Given the description of an element on the screen output the (x, y) to click on. 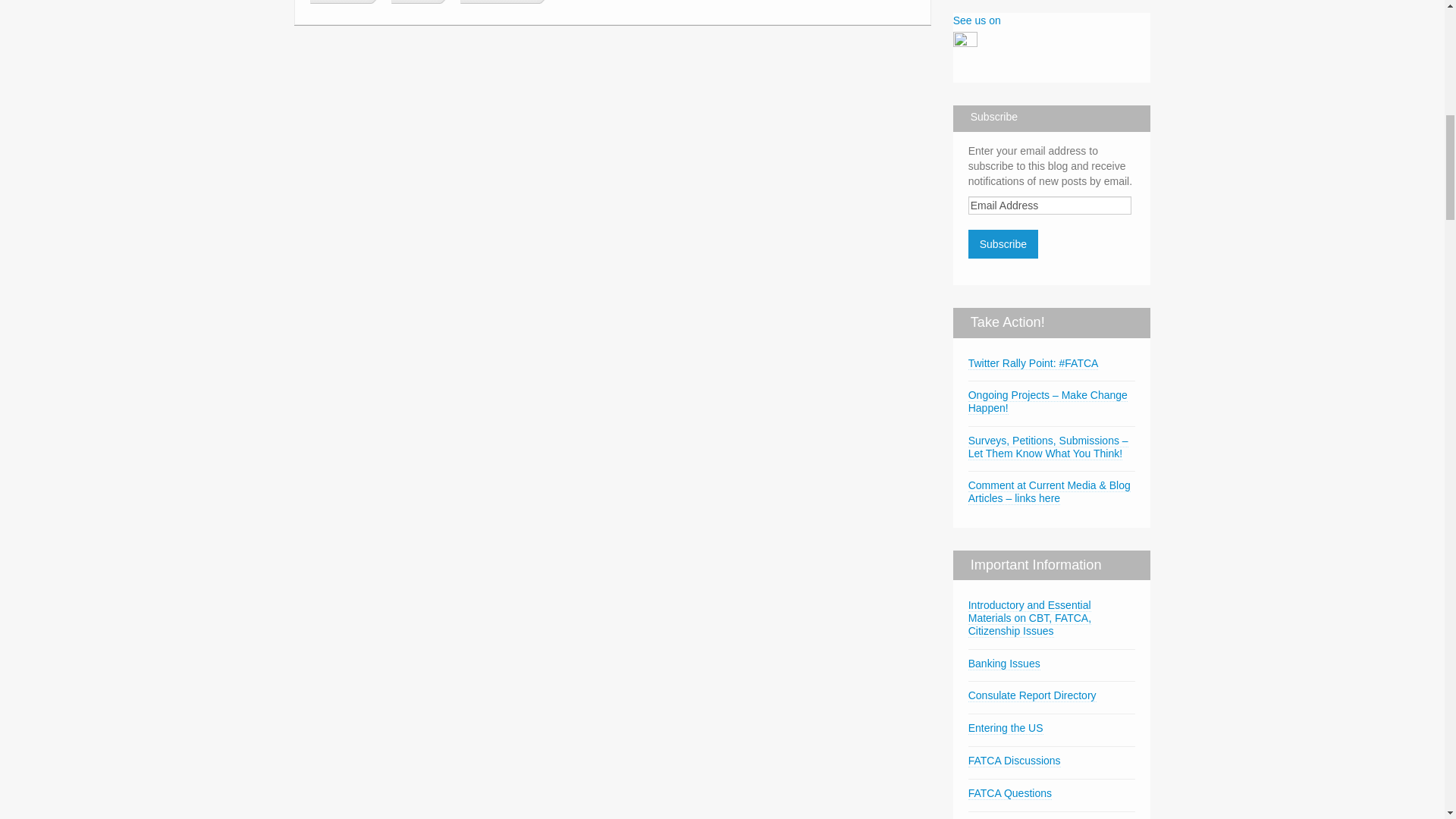
FATCA (414, 2)
Subscribe (1003, 244)
Carl Levin (338, 2)
Email Address (1050, 205)
Warren Buffett (498, 2)
